Given the description of an element on the screen output the (x, y) to click on. 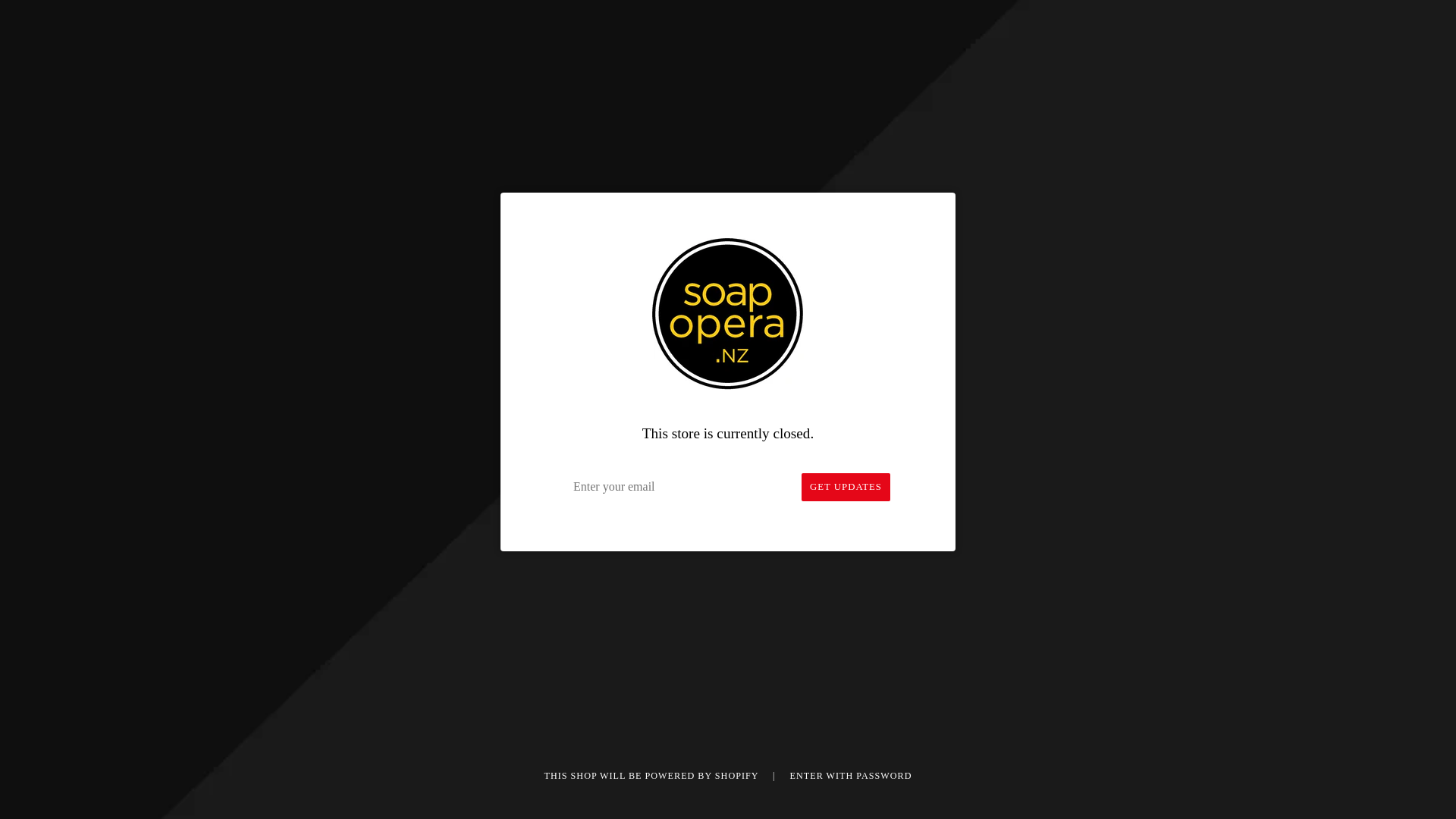
GET UPDATES (845, 487)
ENTER WITH PASSWORD (851, 775)
THIS SHOP WILL BE POWERED BY SHOPIFY (652, 775)
